Given the description of an element on the screen output the (x, y) to click on. 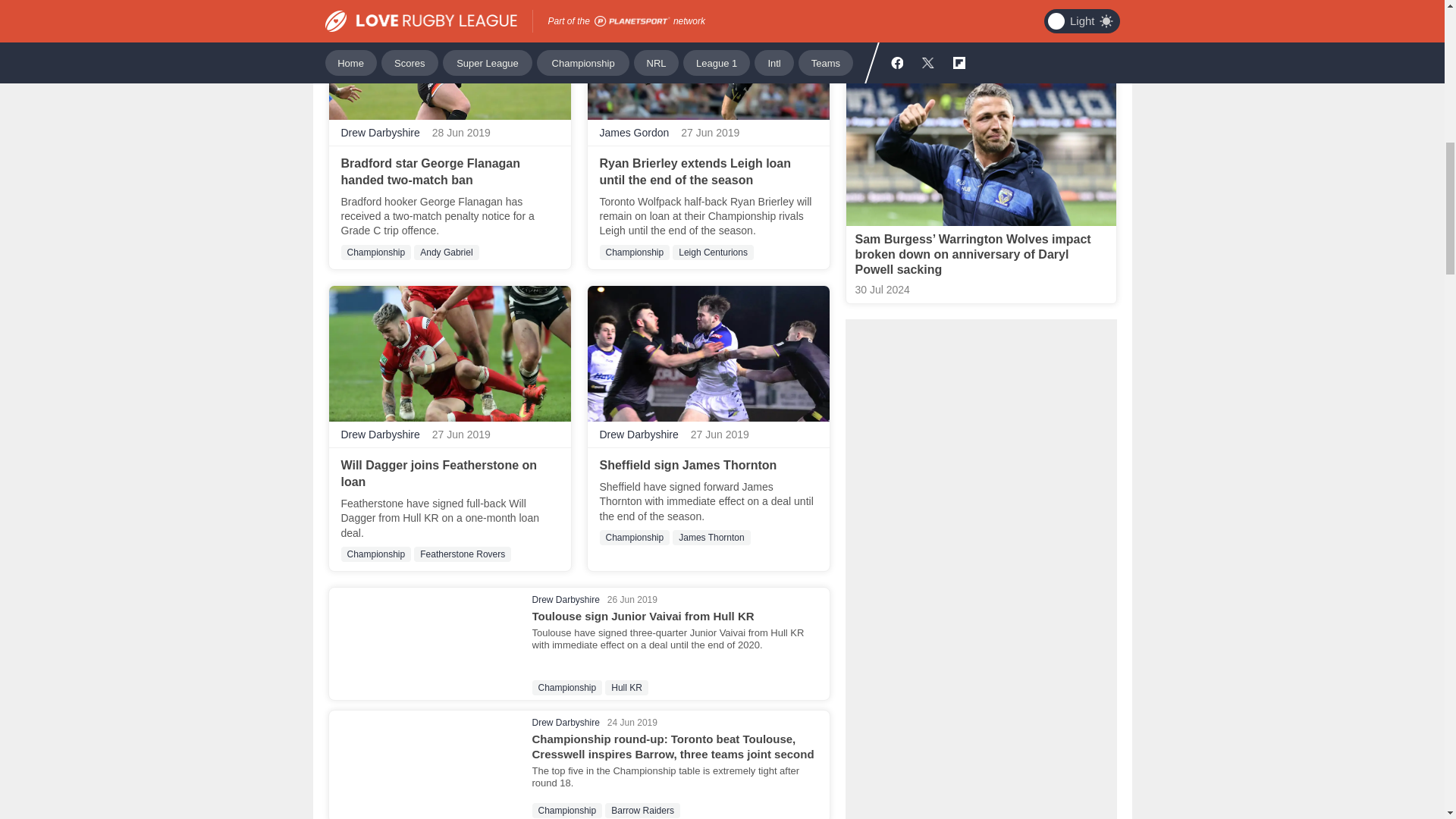
Bradford star George Flanagan handed two-match ban (430, 171)
Drew Darbyshire (380, 132)
Championship (376, 252)
